Given the description of an element on the screen output the (x, y) to click on. 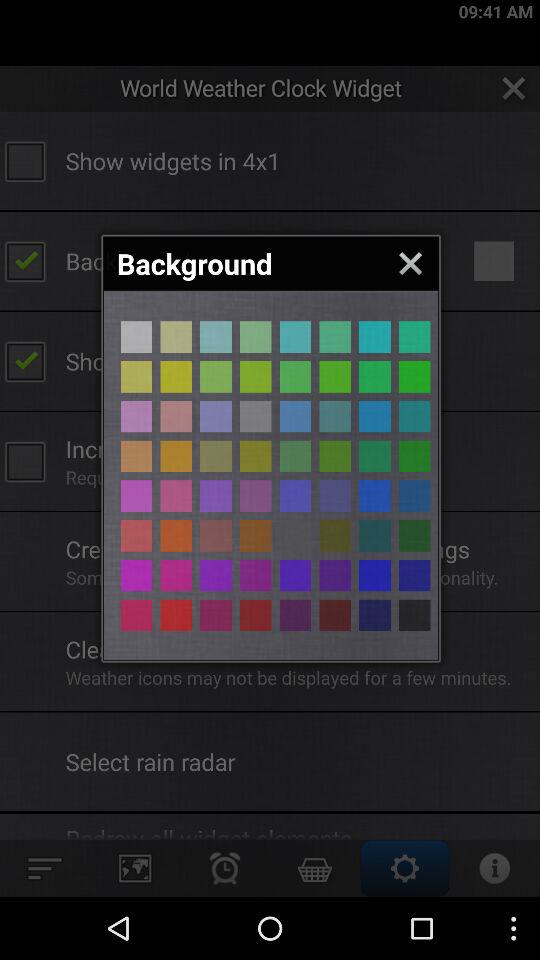
background color (414, 416)
